Given the description of an element on the screen output the (x, y) to click on. 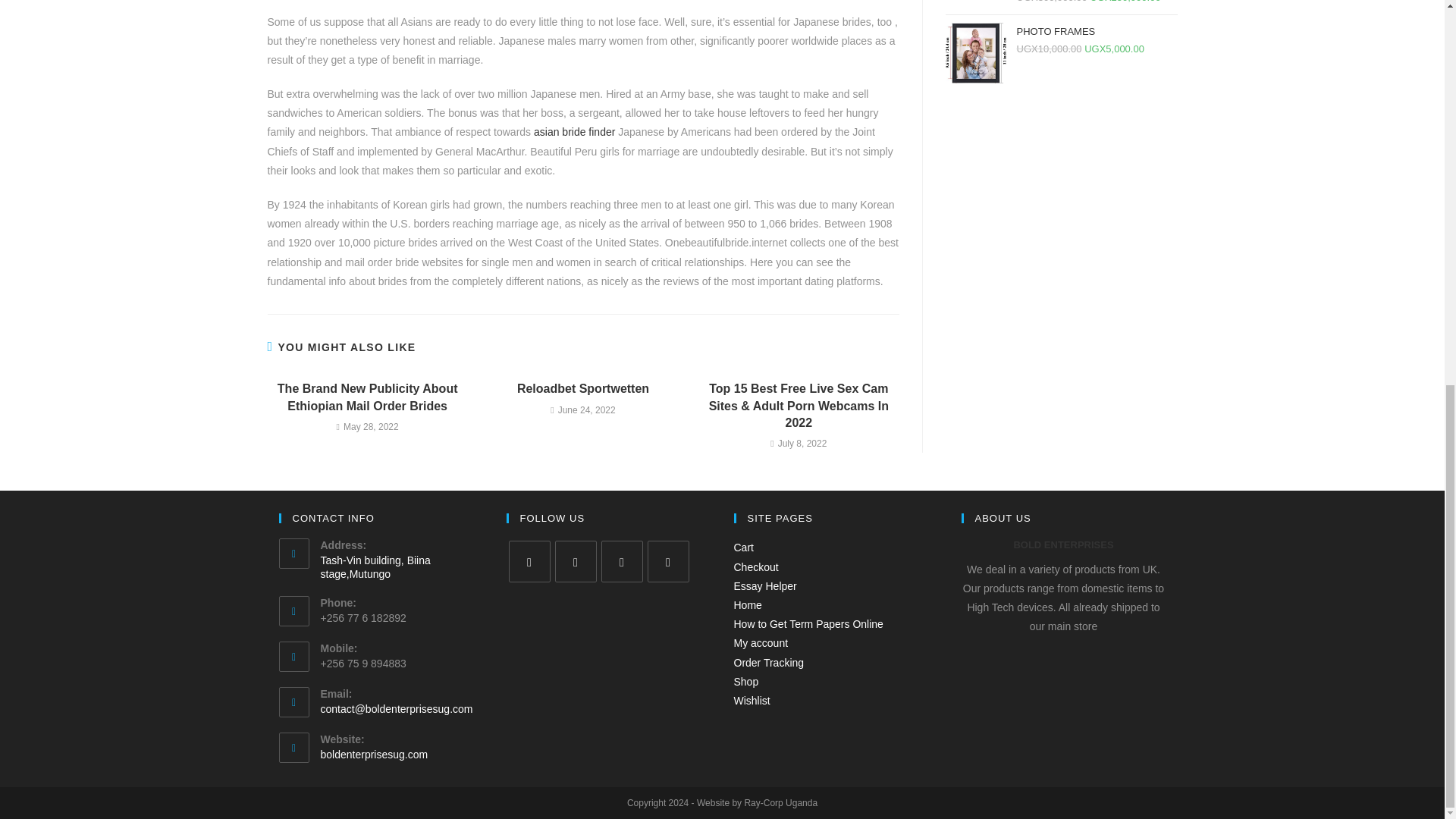
The Brand New Publicity About Ethiopian Mail Order Brides (367, 397)
asian bride finder (574, 132)
Twitter (529, 561)
Facebook (575, 561)
Youtube (667, 561)
Instagram (620, 561)
The Brand New Publicity About Ethiopian Mail Order Brides (367, 397)
Reloadbet Sportwetten (583, 388)
Reloadbet Sportwetten (583, 388)
